Given the description of an element on the screen output the (x, y) to click on. 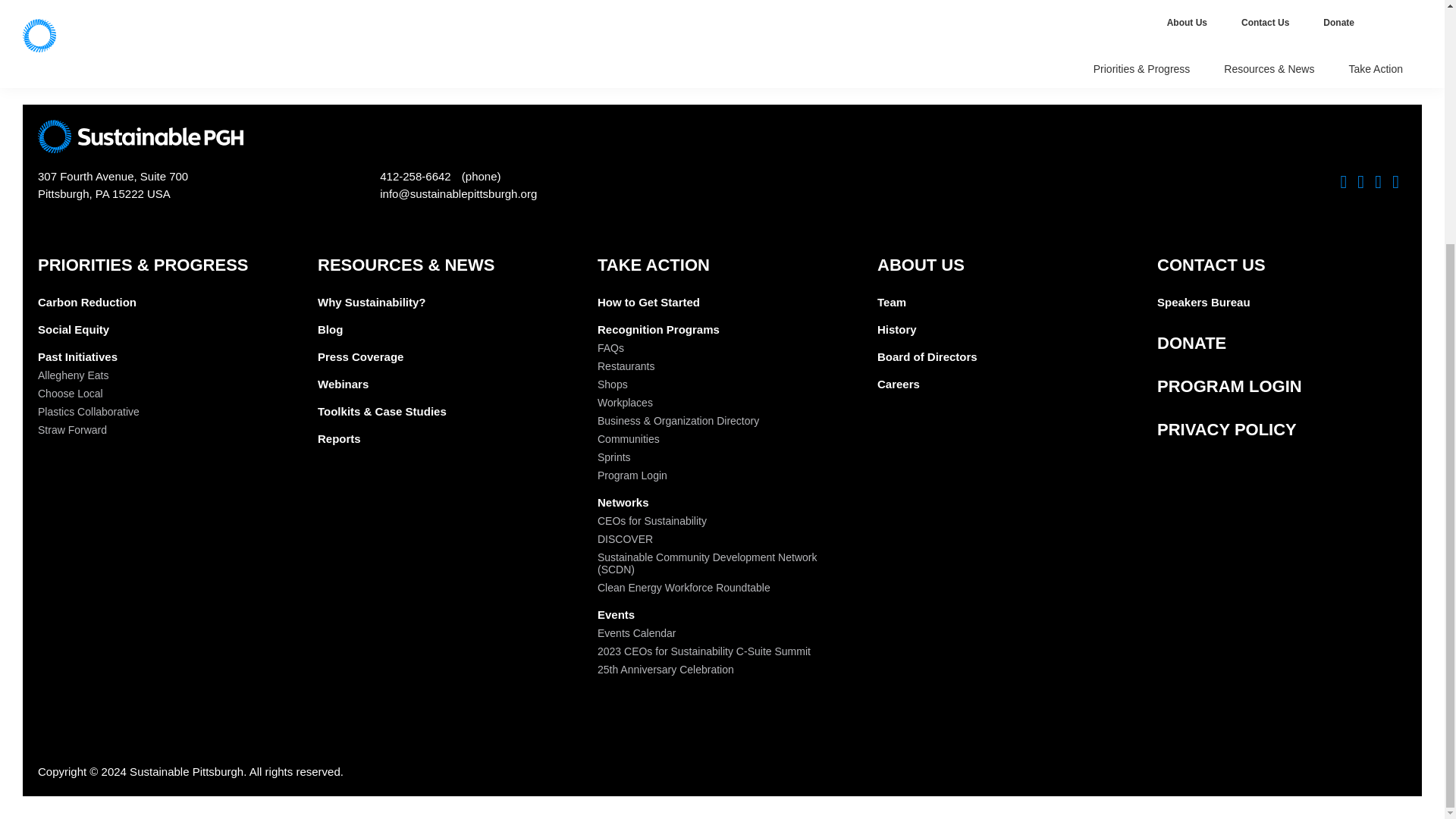
Search (679, 2)
Search (679, 2)
